Given the description of an element on the screen output the (x, y) to click on. 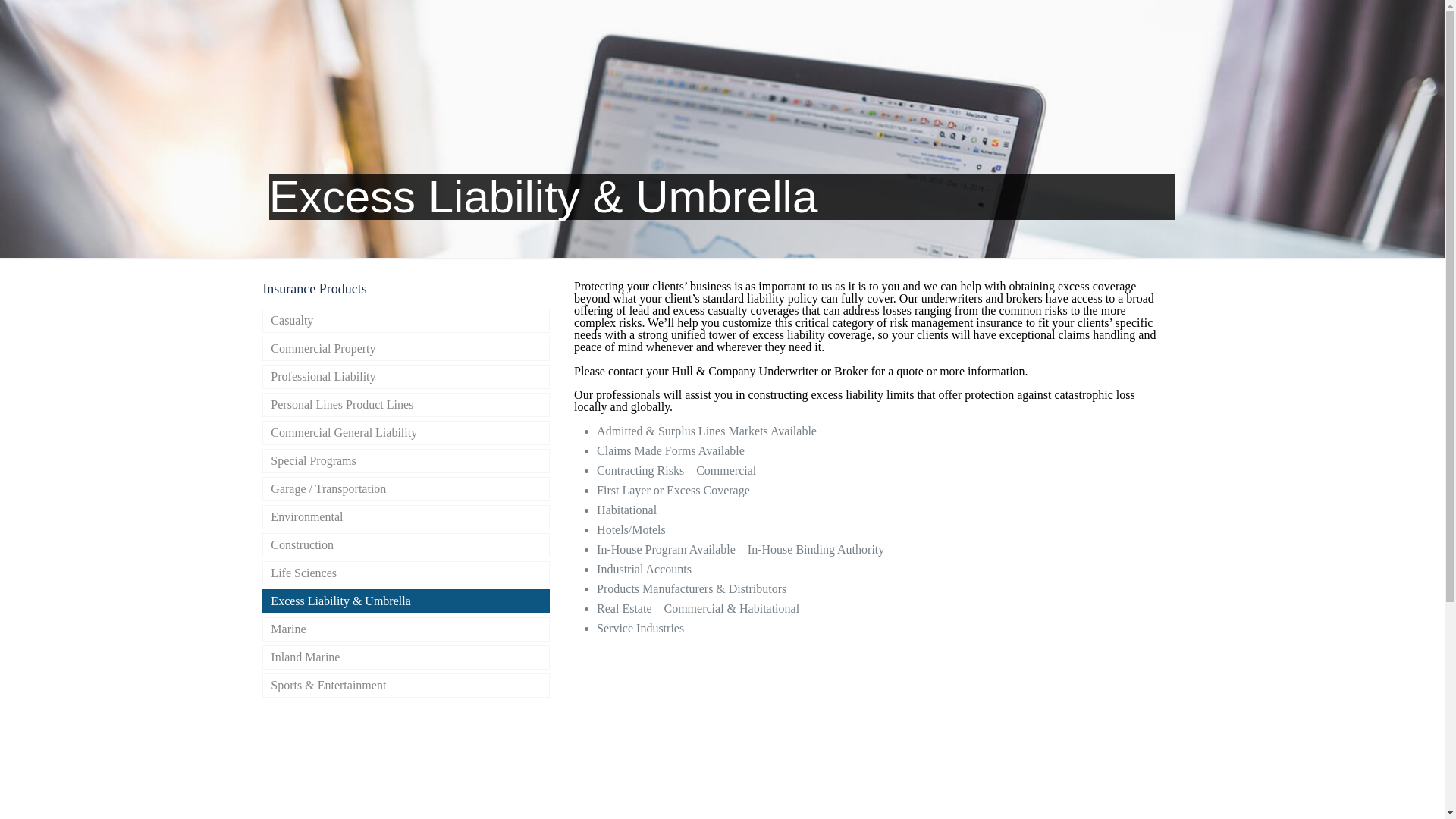
Environmental (406, 517)
Personal Lines Product Lines (406, 404)
Marine (406, 629)
Special Programs (406, 460)
Commercial General Liability (406, 432)
Life Sciences (406, 573)
Construction (406, 545)
Commercial Property (406, 348)
Casualty (406, 320)
Professional Liability (406, 376)
